Given the description of an element on the screen output the (x, y) to click on. 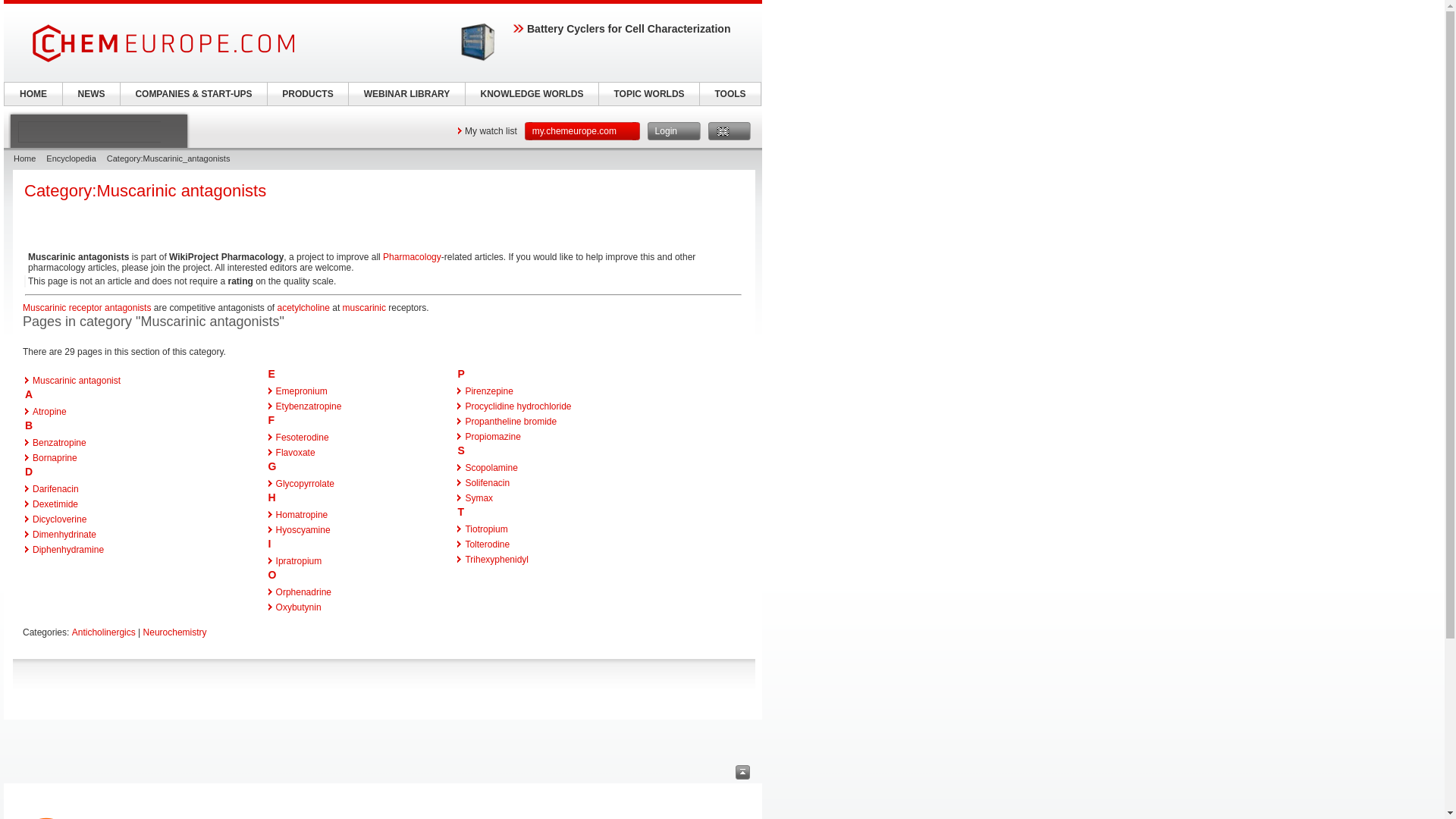
Homatropine (302, 514)
Darifenacin (55, 489)
Diphenhydramine (67, 549)
Dimenhydrinate (64, 534)
Login   (673, 131)
my.chemeurope.com   (582, 131)
Atropine (49, 411)
Bornaprine (54, 457)
Home (23, 157)
Pharmacology (411, 256)
Benzatropine (58, 442)
Hyoscyamine (303, 529)
Atropine (49, 411)
Muscarinic receptor antagonists (87, 307)
